Given the description of an element on the screen output the (x, y) to click on. 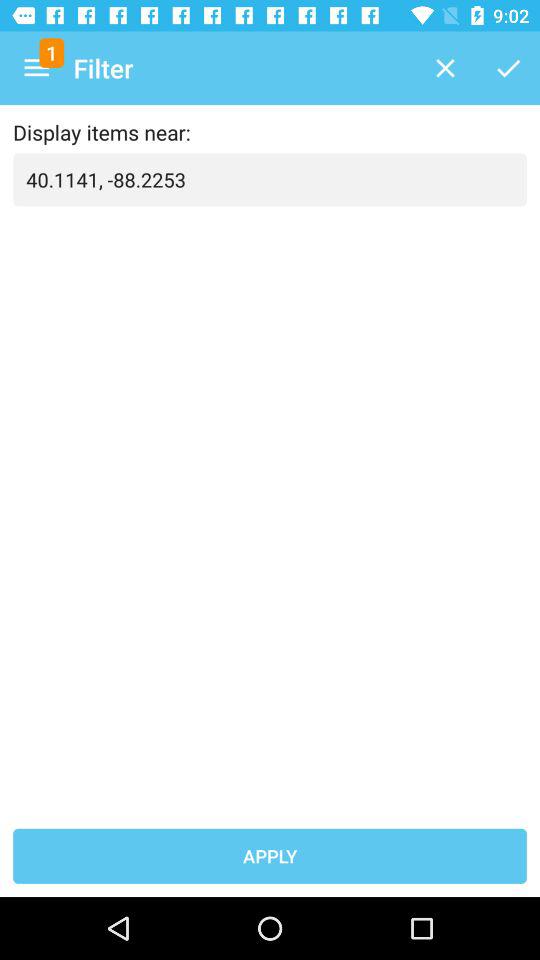
click on x (445, 68)
